Given the description of an element on the screen output the (x, y) to click on. 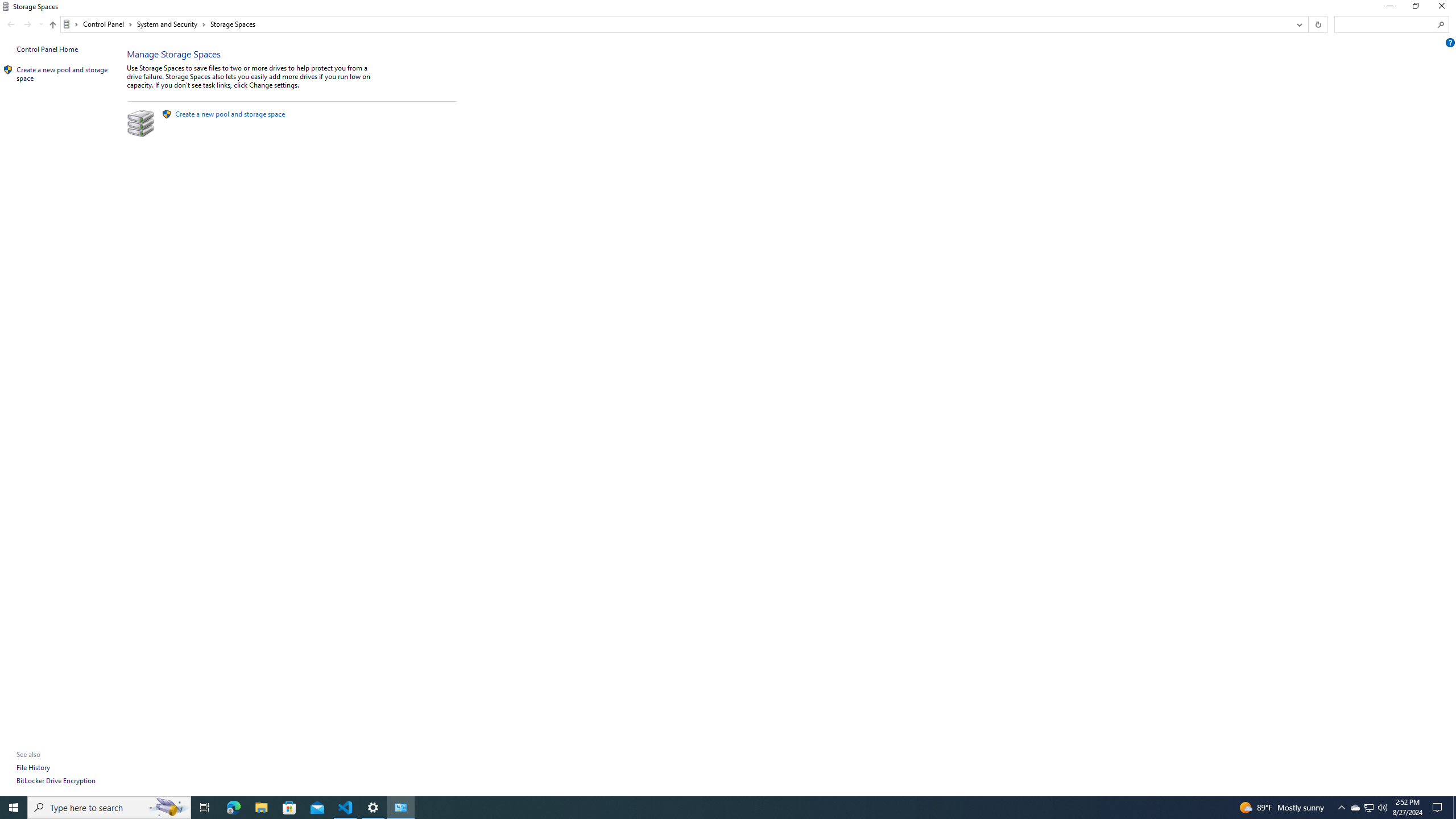
Navigation buttons (24, 23)
System and Security (171, 23)
Running applications (717, 807)
Minimize (1388, 8)
Storage Spaces (232, 23)
Up band toolbar (52, 26)
Refresh "Storage Spaces" (F5) (1316, 23)
Forward (Alt + Right Arrow) (27, 23)
Address: Control Panel\System and Security\Storage Spaces (675, 23)
BitLocker Drive Encryption (56, 780)
Create a new pool and storage space (229, 113)
